Given the description of an element on the screen output the (x, y) to click on. 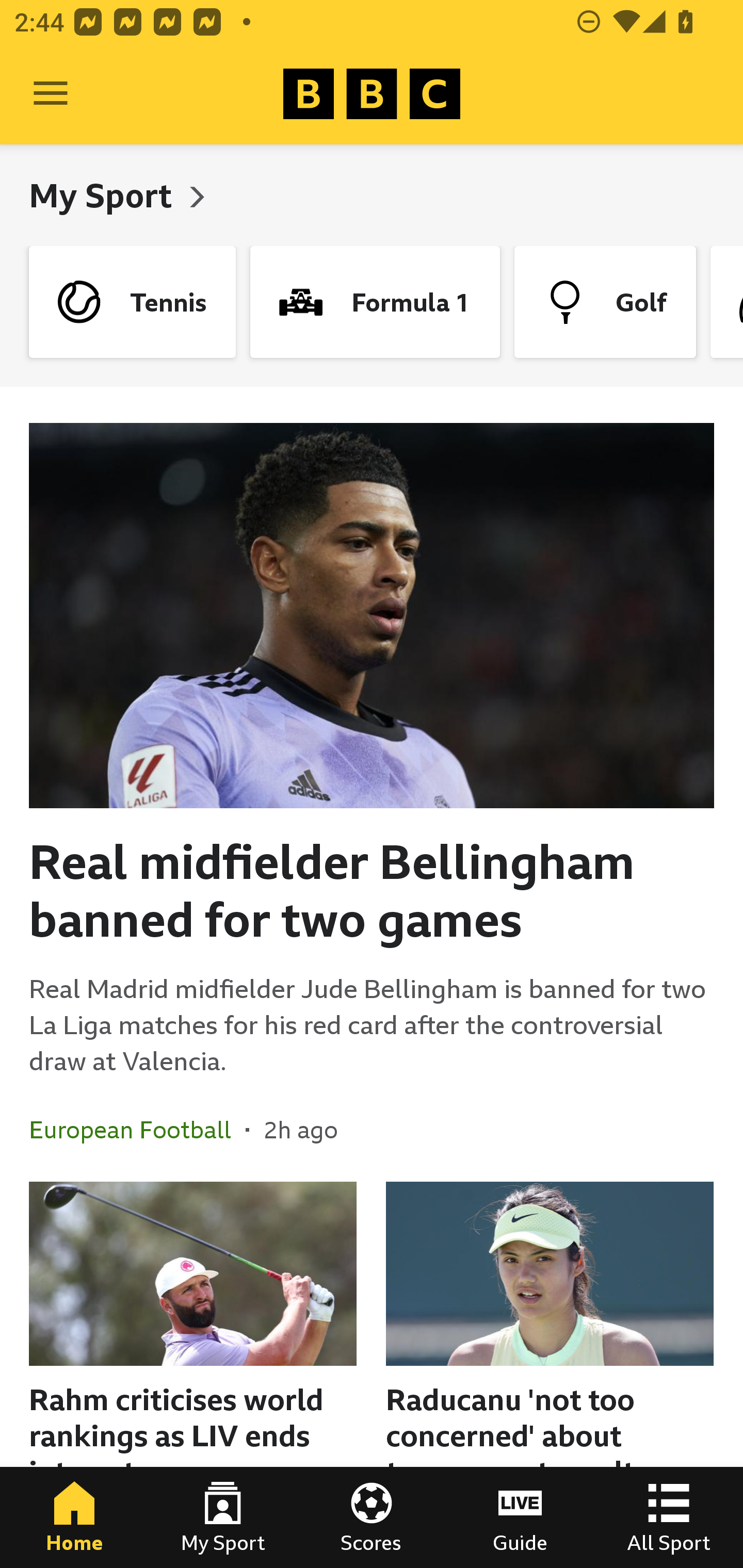
Open Menu (50, 93)
My Sport (104, 195)
European Football In the section European Football (136, 1129)
My Sport (222, 1517)
Scores (371, 1517)
Guide (519, 1517)
All Sport (668, 1517)
